Given the description of an element on the screen output the (x, y) to click on. 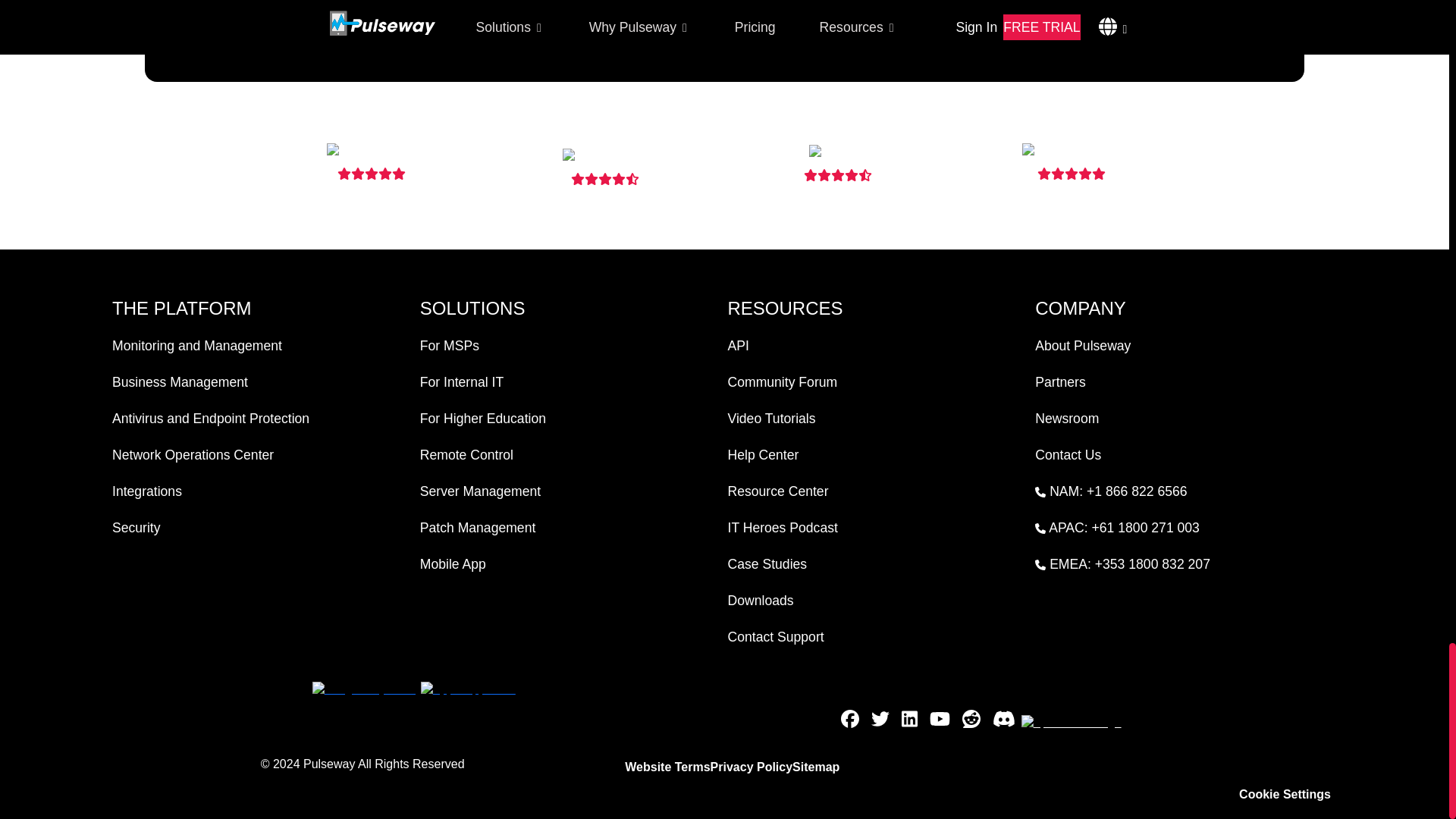
Join us on Discord (1004, 721)
Follow us on YouTube (939, 721)
Visit us on Facebook (849, 721)
Follow us on Reddit (971, 721)
Download Pulseway Mobile Application (467, 688)
Follow us on LinkedIn (909, 721)
Download Pulseway Mobile Application (362, 688)
Follow us on Spiceworks (1071, 721)
Follow us on Twitter (879, 721)
